Given the description of an element on the screen output the (x, y) to click on. 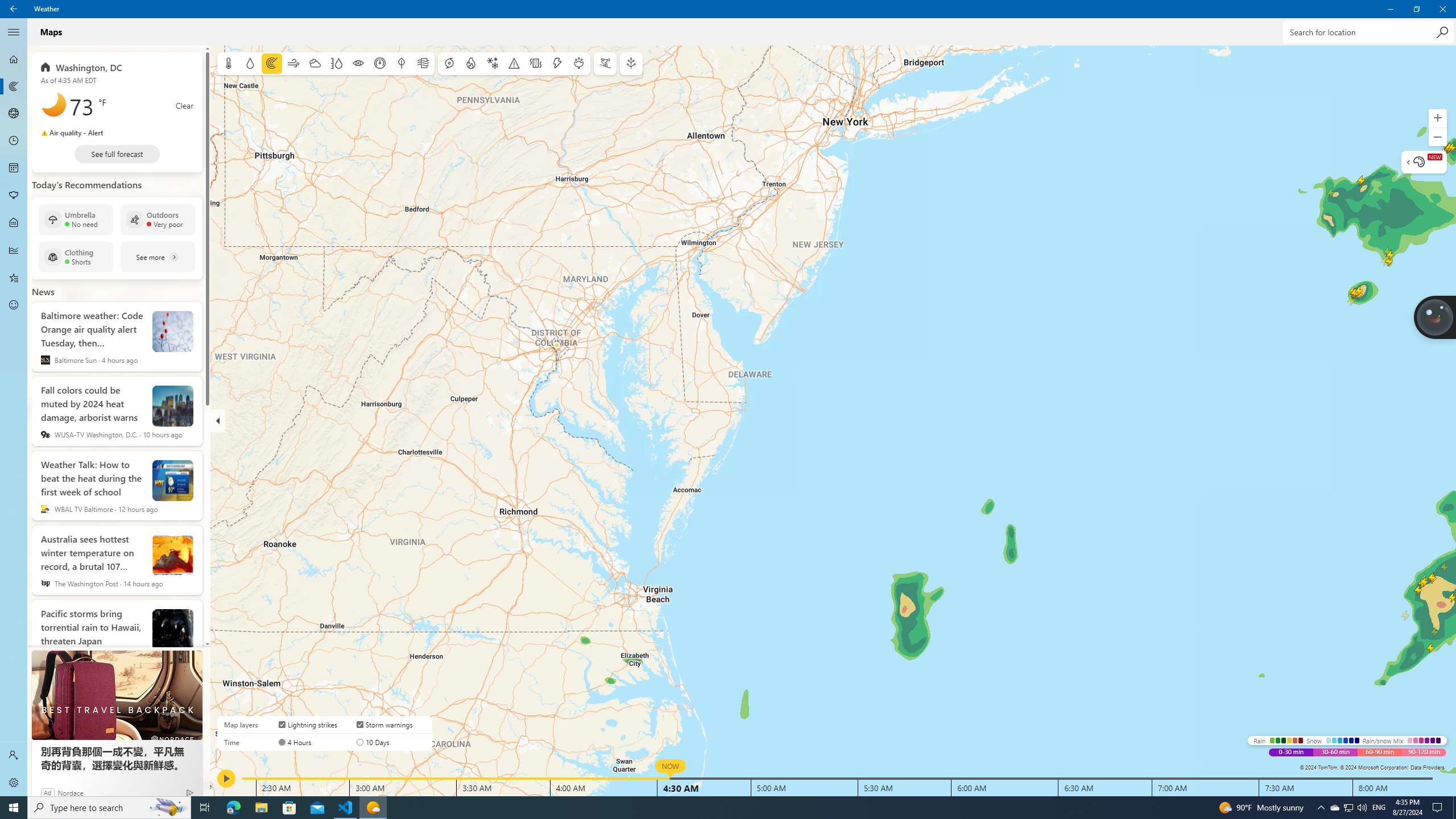
Search for location (1367, 32)
Search (1442, 31)
Start (13, 807)
Monthly Forecast - Not Selected (13, 167)
Settings (13, 782)
Historical Weather - Not Selected (13, 249)
Type here to search (108, 807)
Collapse Navigation (13, 31)
Favorites - Not Selected (13, 277)
Action Center, No new notifications (1439, 807)
Forecast - Not Selected (13, 58)
Show desktop (1454, 807)
Send Feedback - Not Selected (13, 304)
Historical Weather - Not Selected (13, 249)
